Given the description of an element on the screen output the (x, y) to click on. 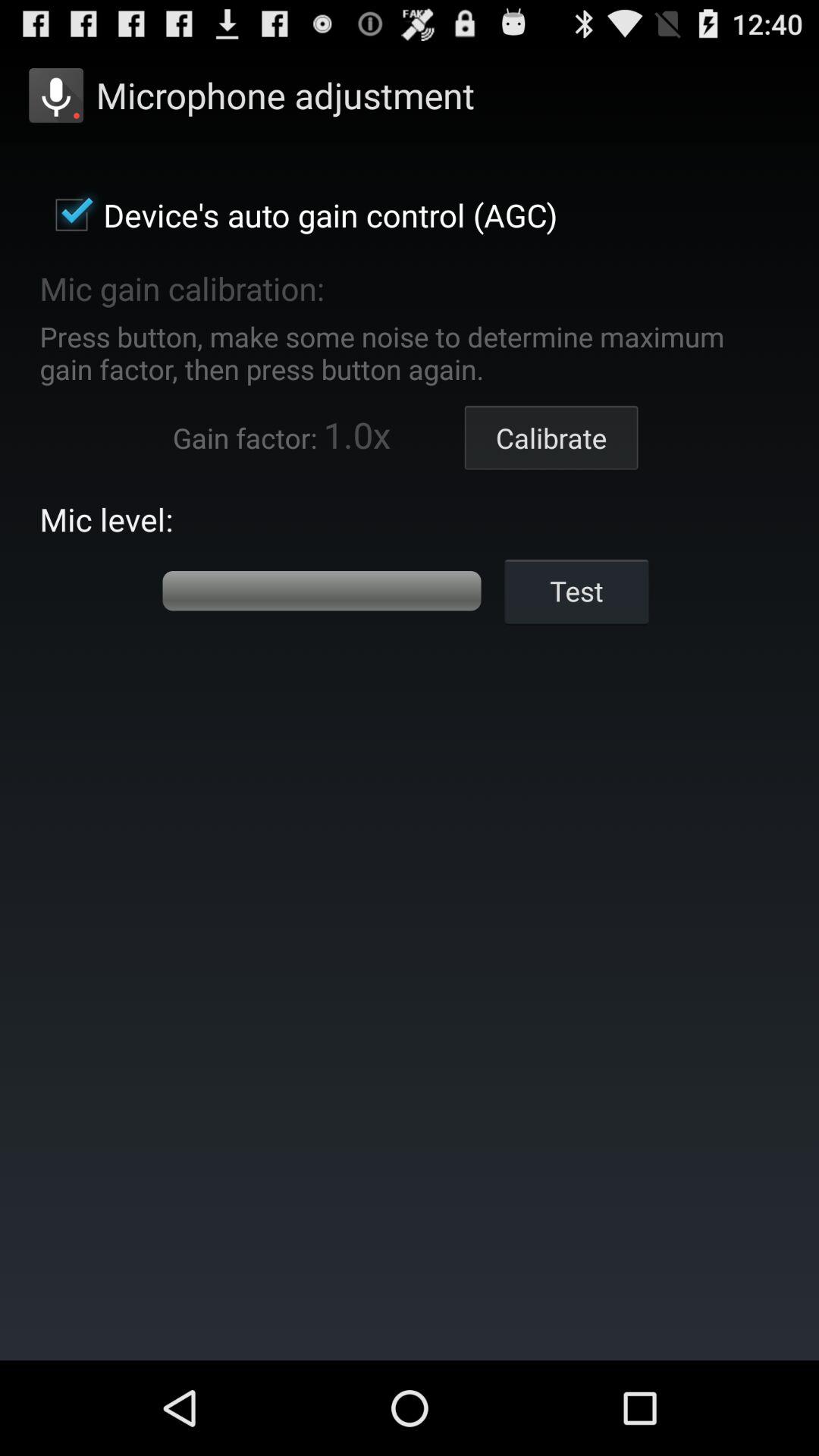
launch the icon below the press button make icon (551, 437)
